Given the description of an element on the screen output the (x, y) to click on. 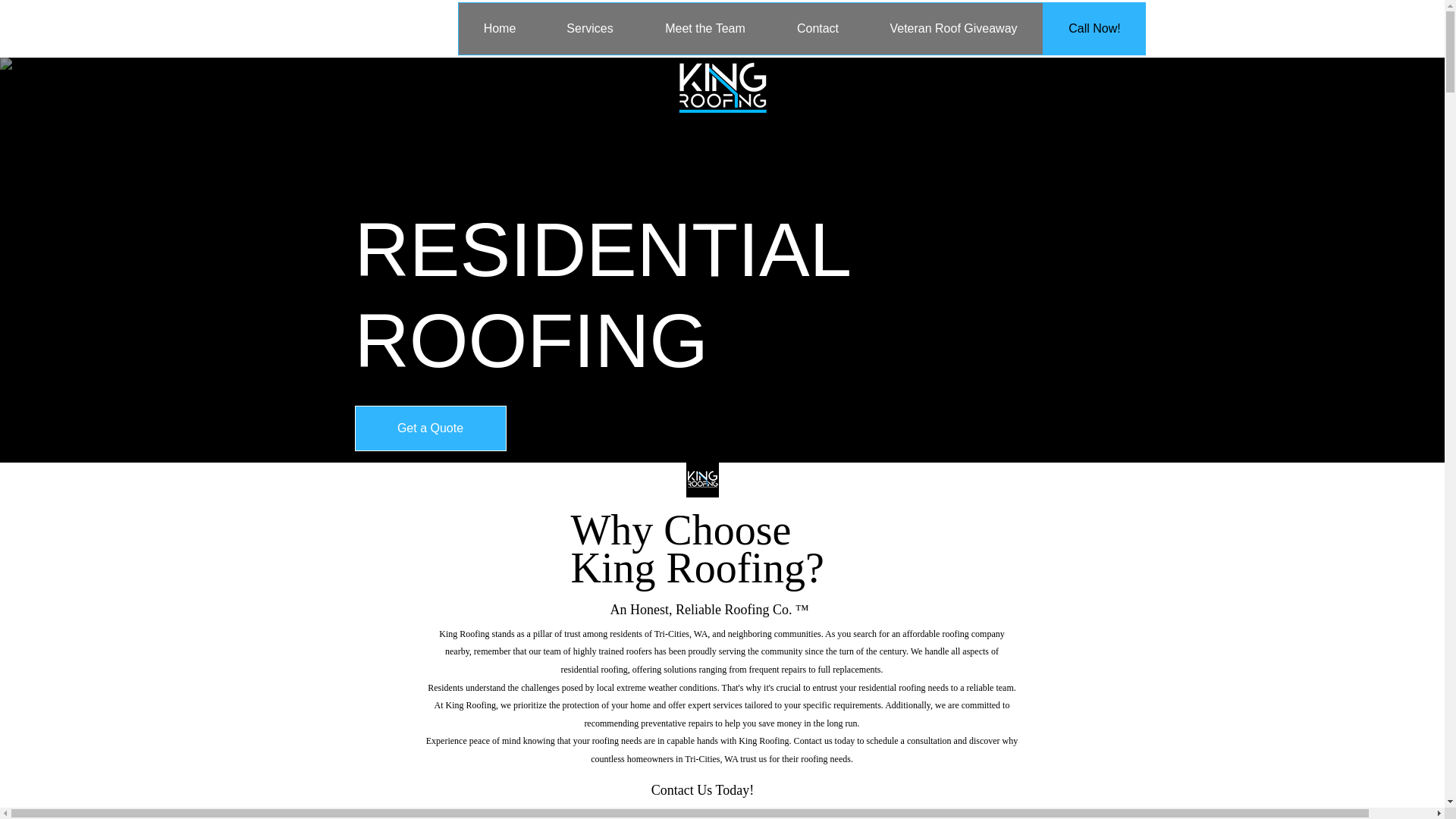
1.png (721, 90)
Call Now! (1094, 28)
Get a Quote (430, 428)
Meet the Team (705, 28)
Veteran Roof Giveaway (952, 28)
Home (499, 28)
509-986-5623 (702, 810)
Contact (817, 28)
